Given the description of an element on the screen output the (x, y) to click on. 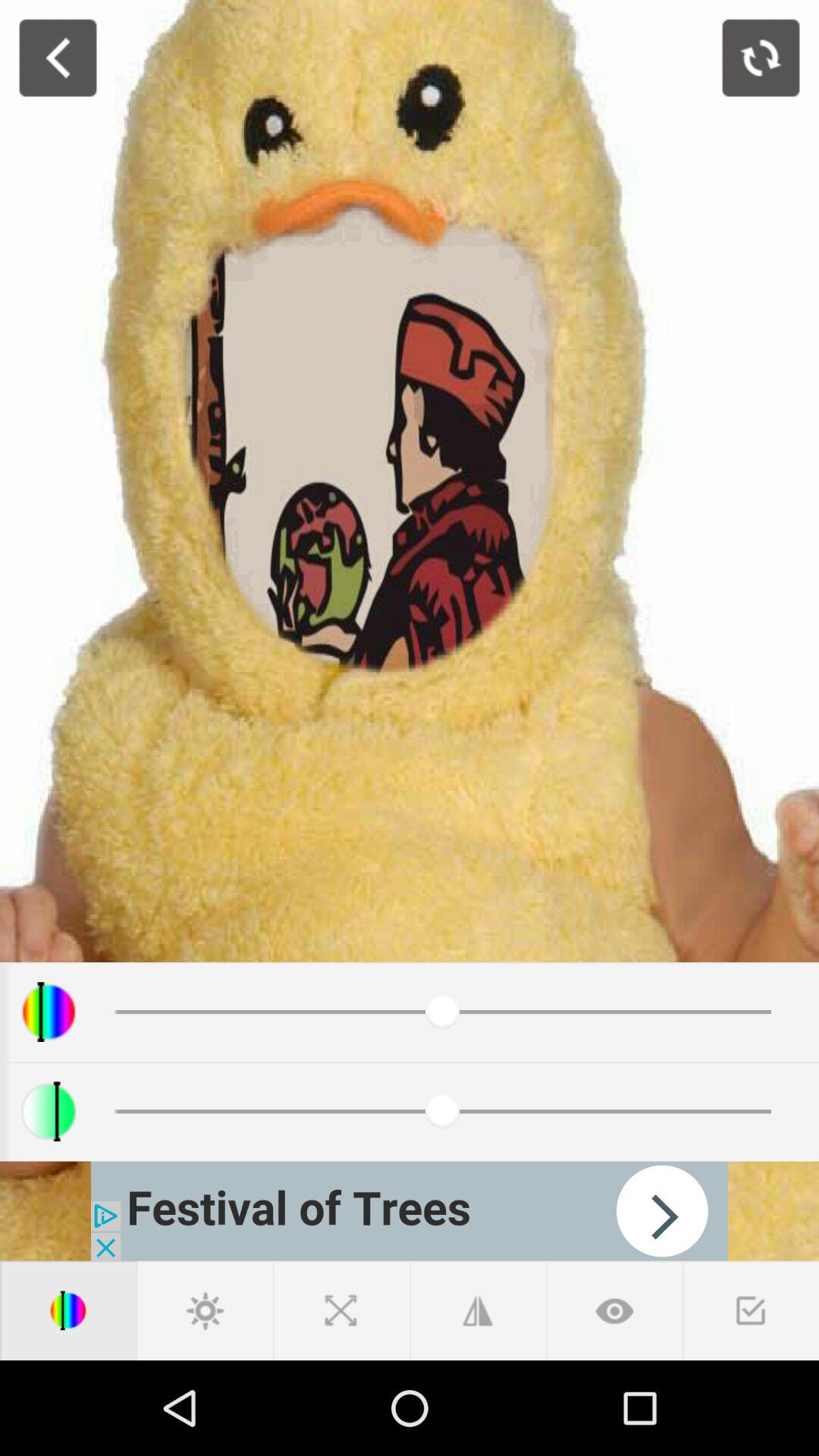
close (341, 1310)
